Given the description of an element on the screen output the (x, y) to click on. 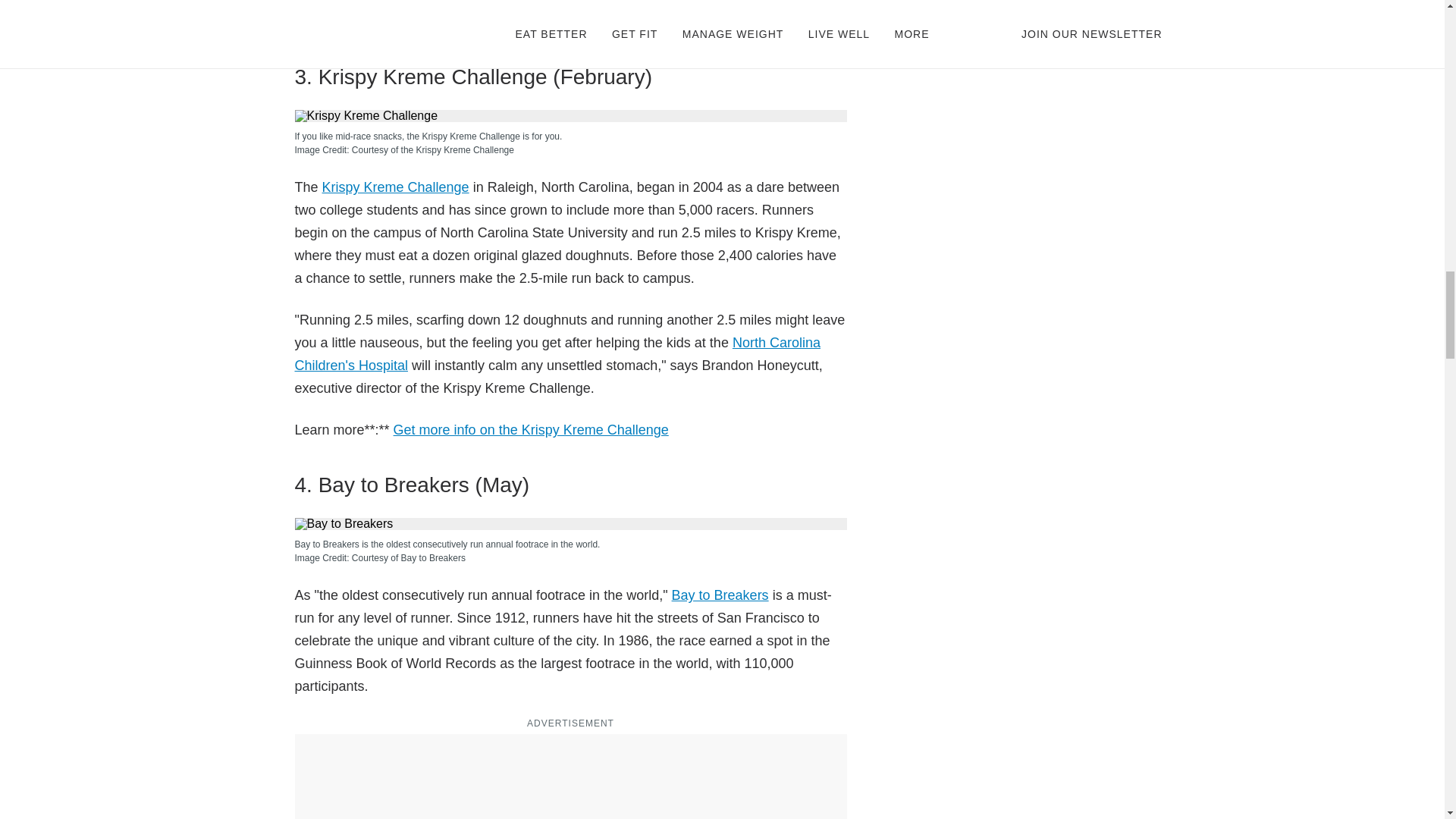
Get more info on the Great American Bacon Race (543, 21)
Krispy Kreme Challenge (394, 186)
North Carolina Children's Hospital (556, 353)
Image Credit: Courtesy of the Krispy Kreme Challenge (569, 150)
